Given the description of an element on the screen output the (x, y) to click on. 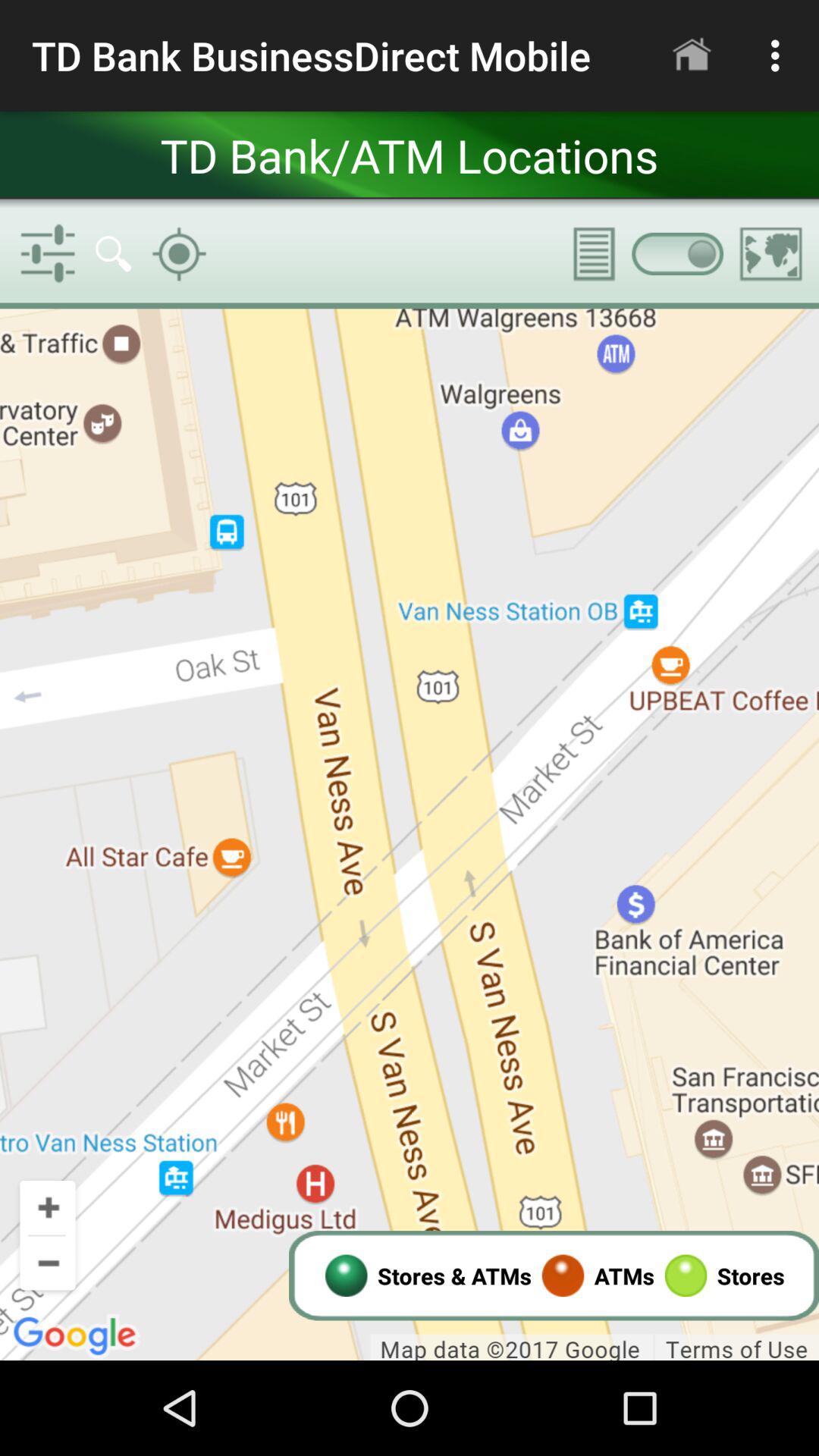
move map (409, 834)
